Given the description of an element on the screen output the (x, y) to click on. 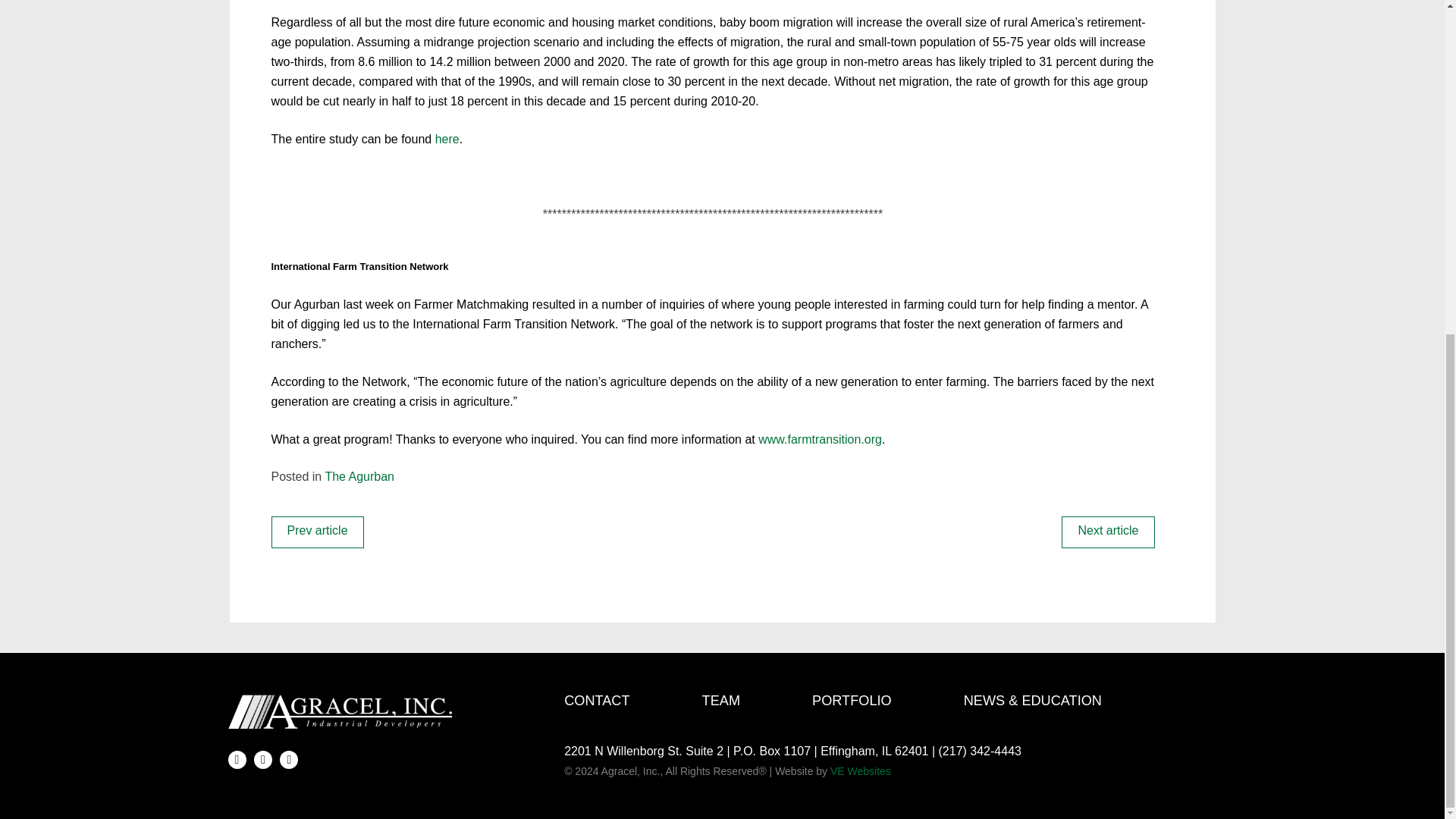
TEAM (720, 700)
VE Websites (860, 770)
The Agurban (359, 476)
PORTFOLIO (851, 700)
Prev article (317, 531)
Next article (1107, 531)
here (447, 138)
www.farmtransition.org (820, 439)
CONTACT (596, 700)
